Given the description of an element on the screen output the (x, y) to click on. 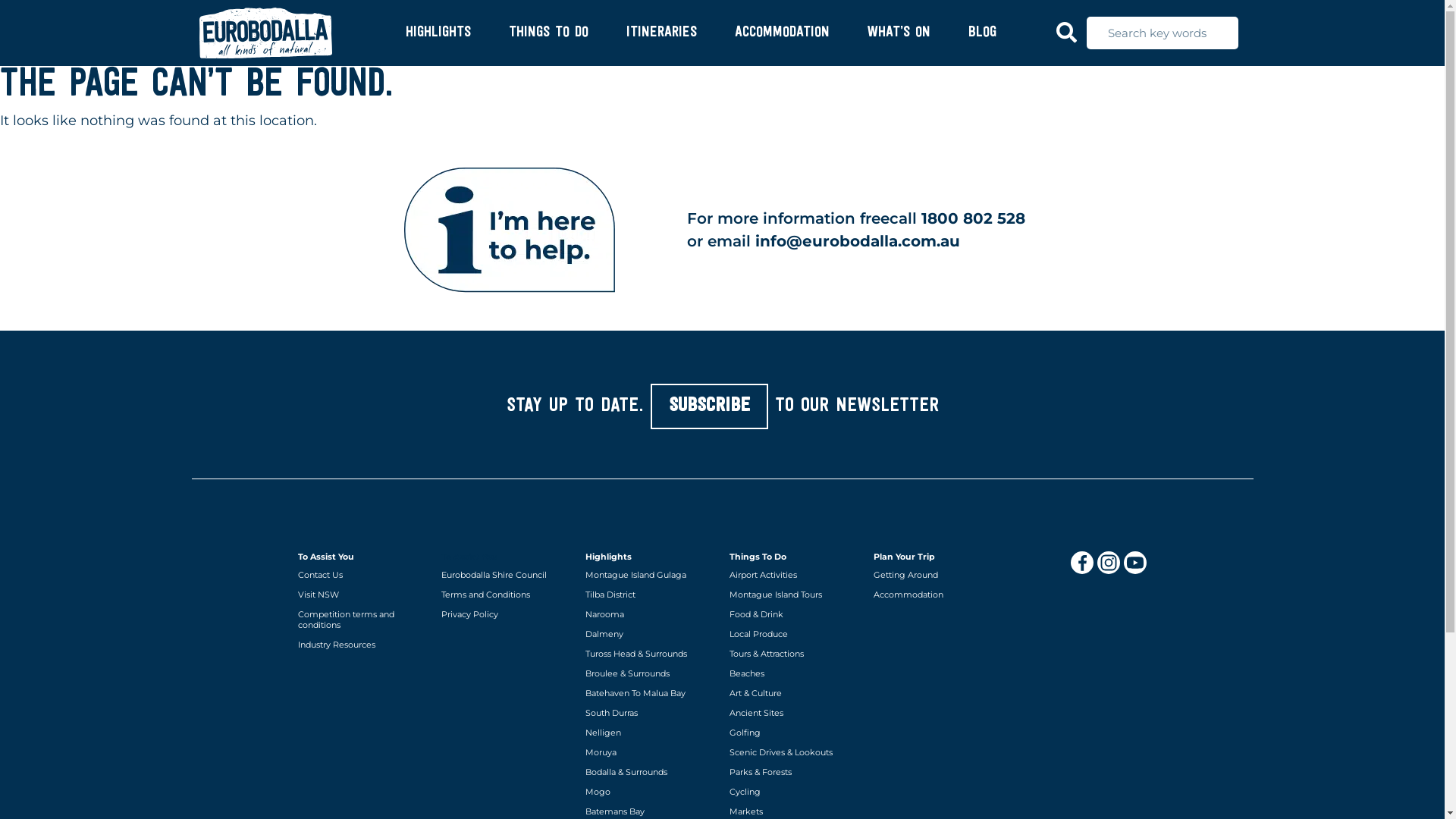
Eurobodalla Shire Council Element type: text (505, 574)
Accommodation Element type: text (937, 594)
Montague Island Tours Element type: text (793, 594)
SUBSCRIBE Element type: text (709, 406)
Batehaven To Malua Bay Element type: text (649, 692)
Airport Activities Element type: text (793, 574)
Cycling Element type: text (793, 791)
Montague Island Gulaga Element type: text (649, 574)
Competition terms and conditions Element type: text (361, 619)
Scenic Drives & Lookouts Element type: text (793, 752)
1800 802 528 Element type: text (973, 218)
Food & Drink Element type: text (793, 614)
BLOG Element type: text (981, 32)
Tilba District Element type: text (649, 594)
Moruya Element type: text (649, 752)
Parks & Forests Element type: text (793, 771)
Nelligen Element type: text (649, 732)
South Durras Element type: text (649, 712)
Beaches Element type: text (793, 673)
ACCOMMODATION Element type: text (781, 32)
Ancient Sites Element type: text (793, 712)
HIGHLIGHTS Element type: text (437, 32)
info@eurobodalla.com.au Element type: text (857, 241)
Local Produce Element type: text (793, 633)
SUBSCRIBE Element type: text (708, 405)
THINGS TO DO Element type: text (547, 32)
Tuross Head & Surrounds Element type: text (649, 653)
Golfing Element type: text (793, 732)
Mogo Element type: text (649, 791)
Privacy Policy Element type: text (505, 614)
ITINERARIES Element type: text (661, 32)
Getting Around Element type: text (937, 574)
Contact Us Element type: text (361, 574)
Broulee & Surrounds Element type: text (649, 673)
Dalmeny Element type: text (649, 633)
Terms and Conditions Element type: text (505, 594)
Narooma Element type: text (649, 614)
Visit NSW Element type: text (361, 594)
Tours & Attractions Element type: text (793, 653)
Art & Culture Element type: text (793, 692)
Bodalla & Surrounds Element type: text (649, 771)
Industry Resources Element type: text (361, 644)
